Given the description of an element on the screen output the (x, y) to click on. 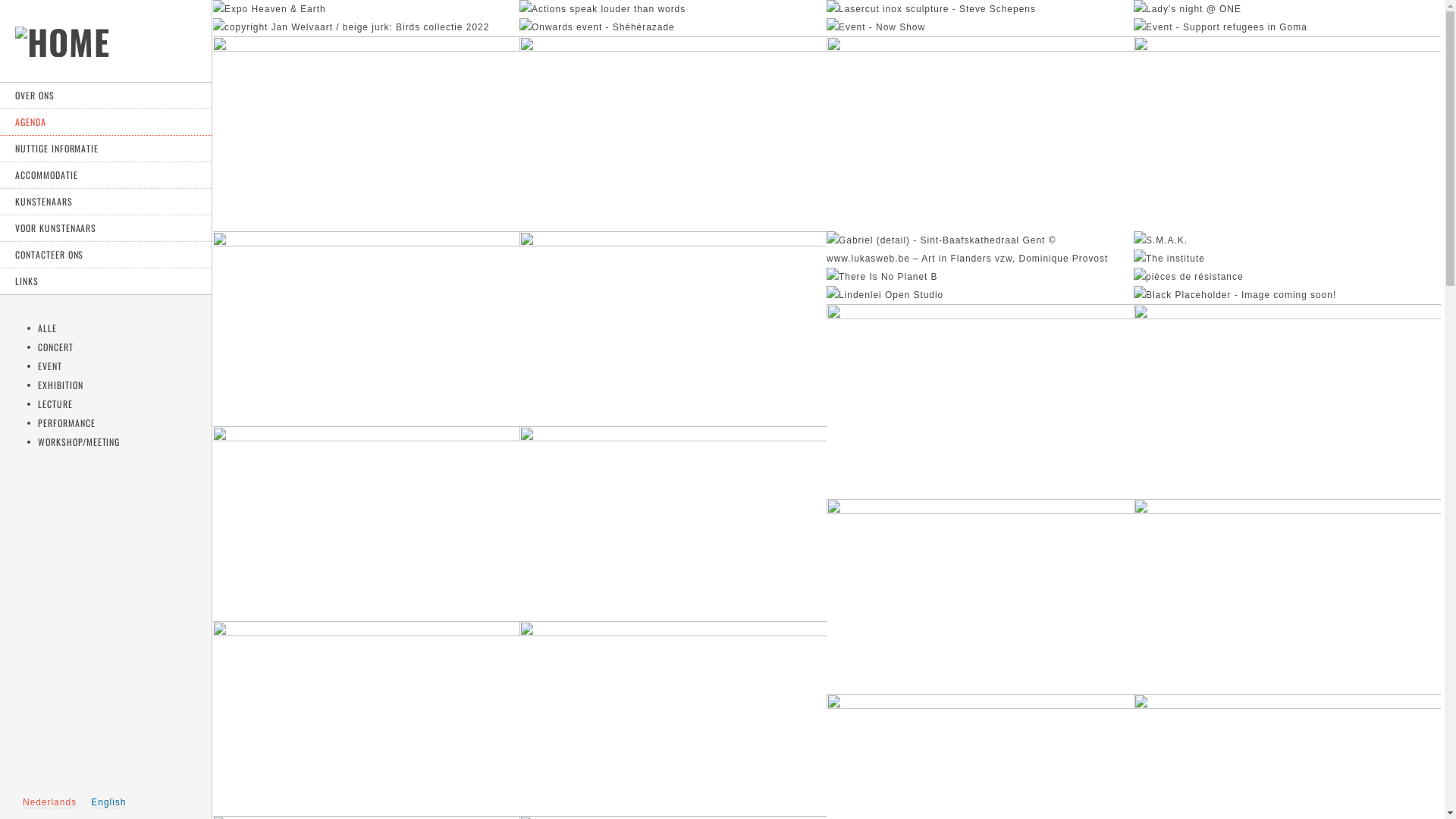
CONTACTEER ONS Element type: text (105, 254)
CONCERT Element type: text (55, 346)
There Is No Planet B Element type: hover (882, 276)
Lindenlei Open Studio Element type: hover (884, 294)
Nederlands Element type: text (49, 802)
Actions speak louder than words Element type: hover (602, 9)
ALLE Element type: text (46, 327)
EXHIBITION Element type: text (60, 384)
OVER ONS Element type: text (105, 95)
NUTTIGE INFORMATIE Element type: text (105, 148)
WORKSHOP/MEETING Element type: text (78, 441)
English Element type: text (108, 802)
KUNSTENAARS Element type: text (105, 201)
ACCOMMODATIE Element type: text (105, 175)
LECTURE Element type: text (54, 403)
EVENT Element type: text (49, 365)
Black Placeholder - Image coming soon! Element type: hover (1234, 294)
S.M.A.K. Element type: hover (1160, 240)
VOOR KUNSTENAARS Element type: text (105, 228)
The institute Element type: hover (1168, 258)
PERFORMANCE Element type: text (66, 422)
LINKS Element type: text (105, 281)
AGENDA Element type: text (105, 122)
Home Element type: hover (62, 50)
